Given the description of an element on the screen output the (x, y) to click on. 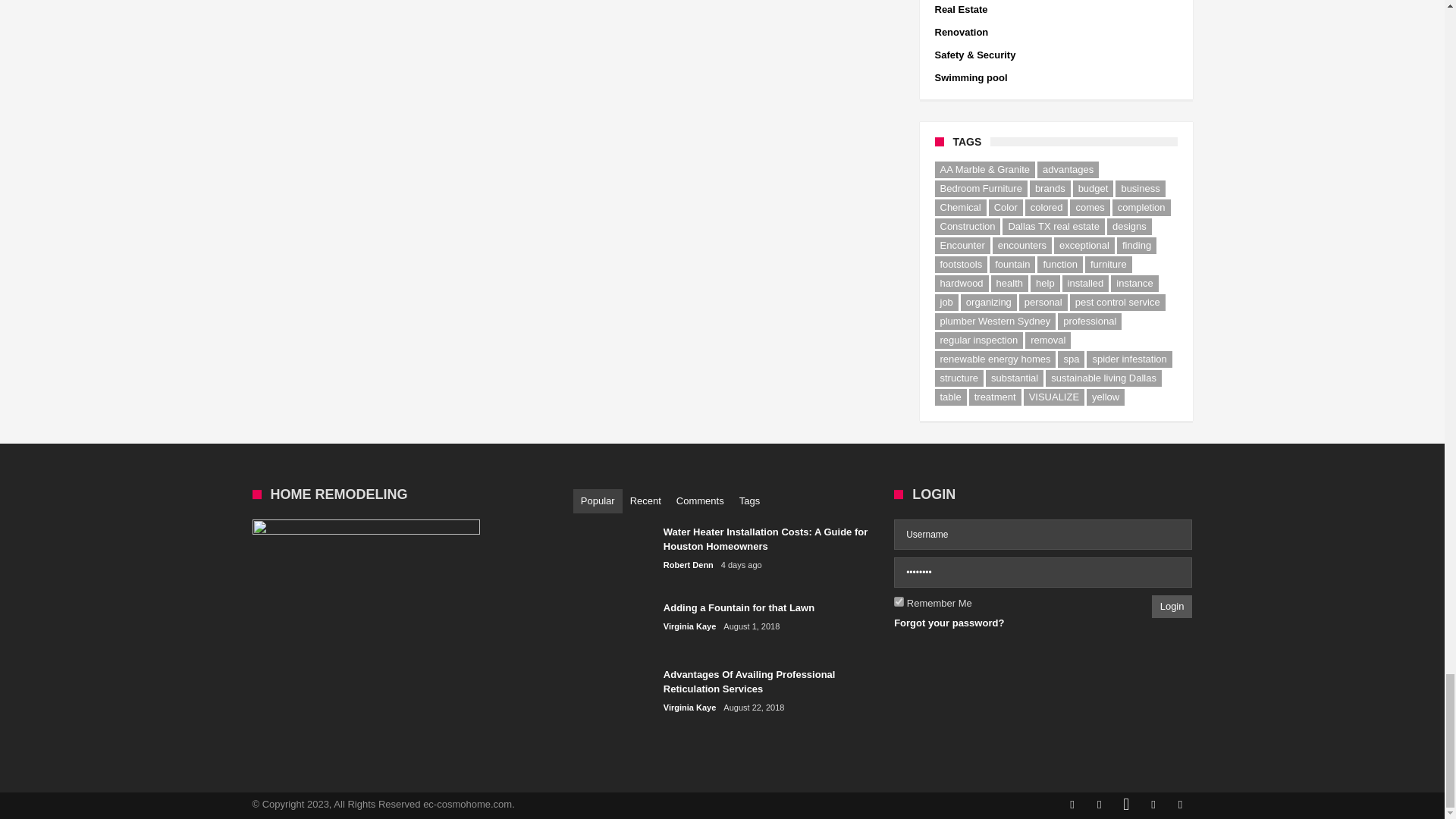
Password (1042, 572)
forever (898, 601)
Username (1042, 534)
